Given the description of an element on the screen output the (x, y) to click on. 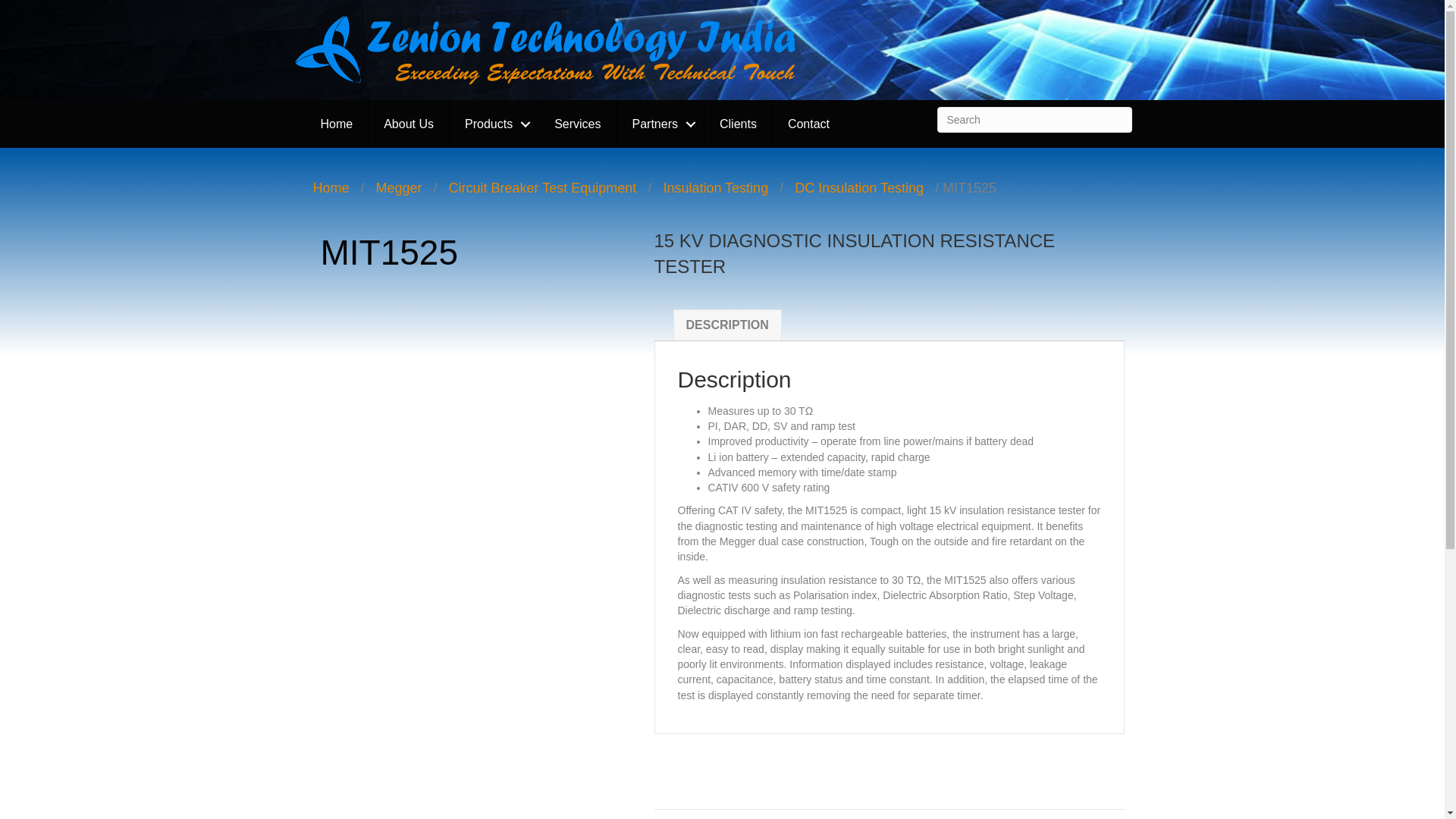
Search (1034, 119)
Type and press Enter to search. (1034, 119)
About Us (408, 123)
Home (336, 123)
Products (493, 123)
Search (1034, 119)
